Given the description of an element on the screen output the (x, y) to click on. 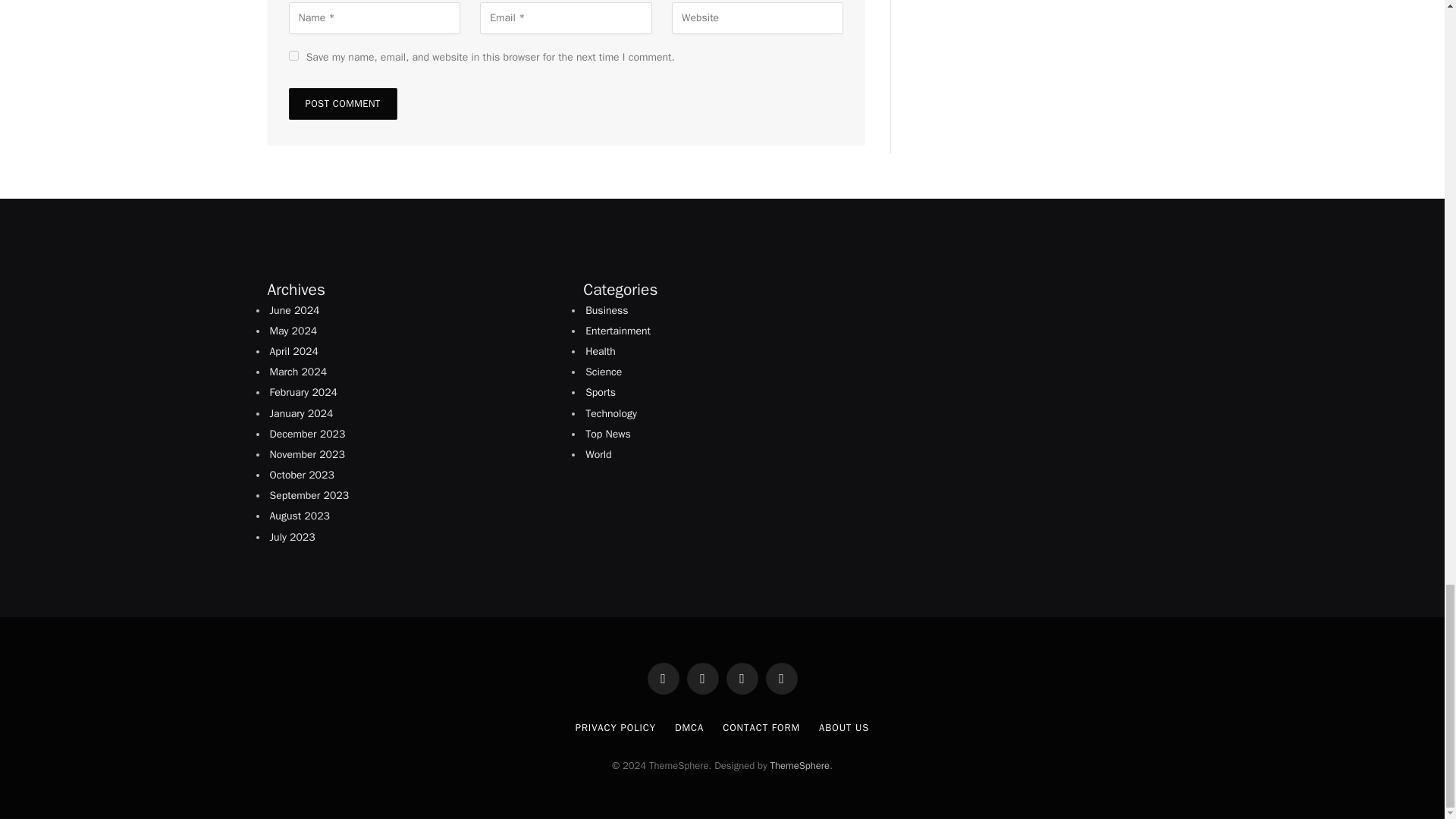
Post Comment (342, 103)
yes (293, 55)
